Given the description of an element on the screen output the (x, y) to click on. 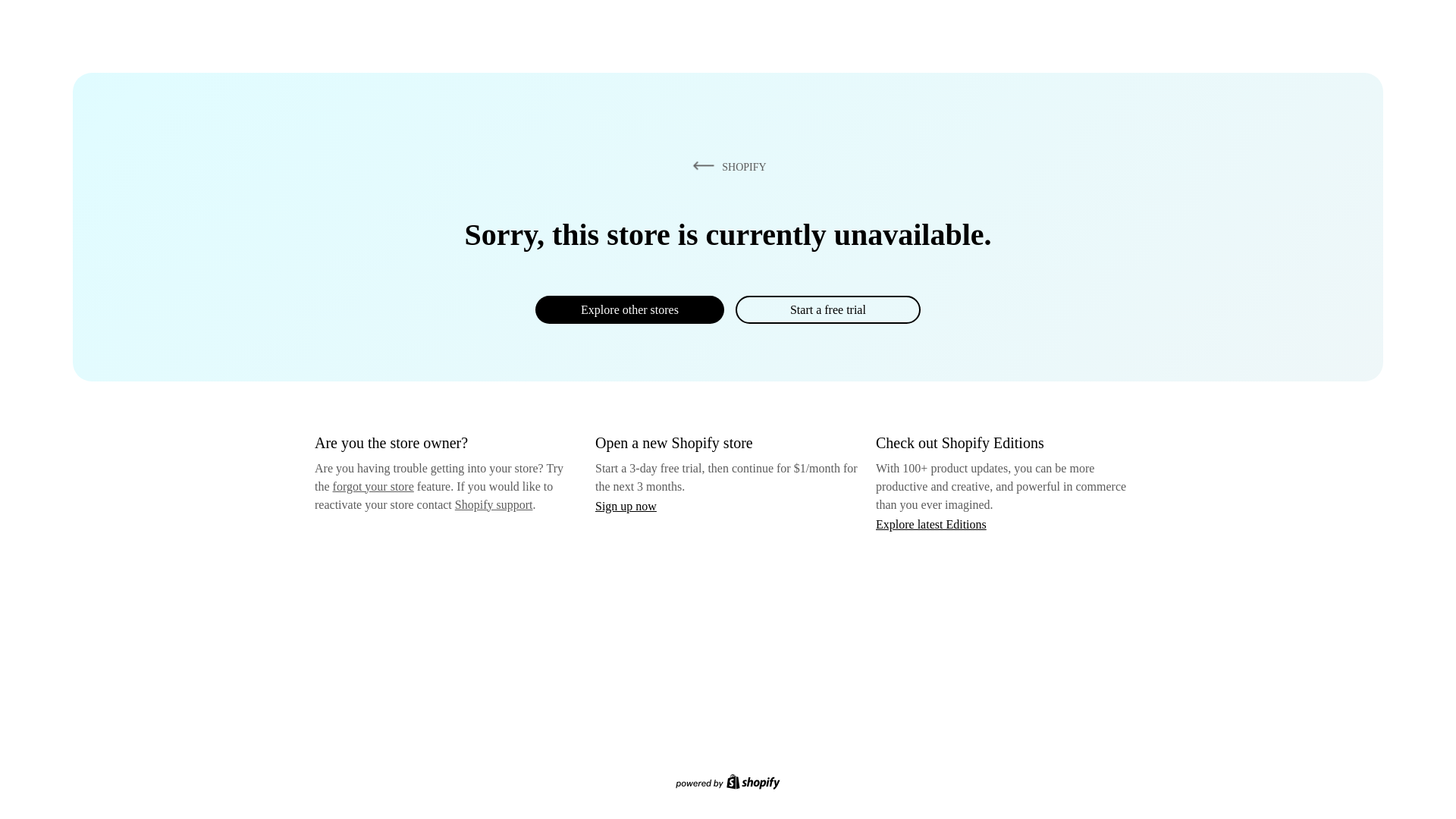
Shopify support (493, 504)
SHOPIFY (726, 166)
Explore latest Editions (931, 523)
Explore other stores (629, 309)
Sign up now (625, 505)
forgot your store (373, 486)
Start a free trial (827, 309)
